Given the description of an element on the screen output the (x, y) to click on. 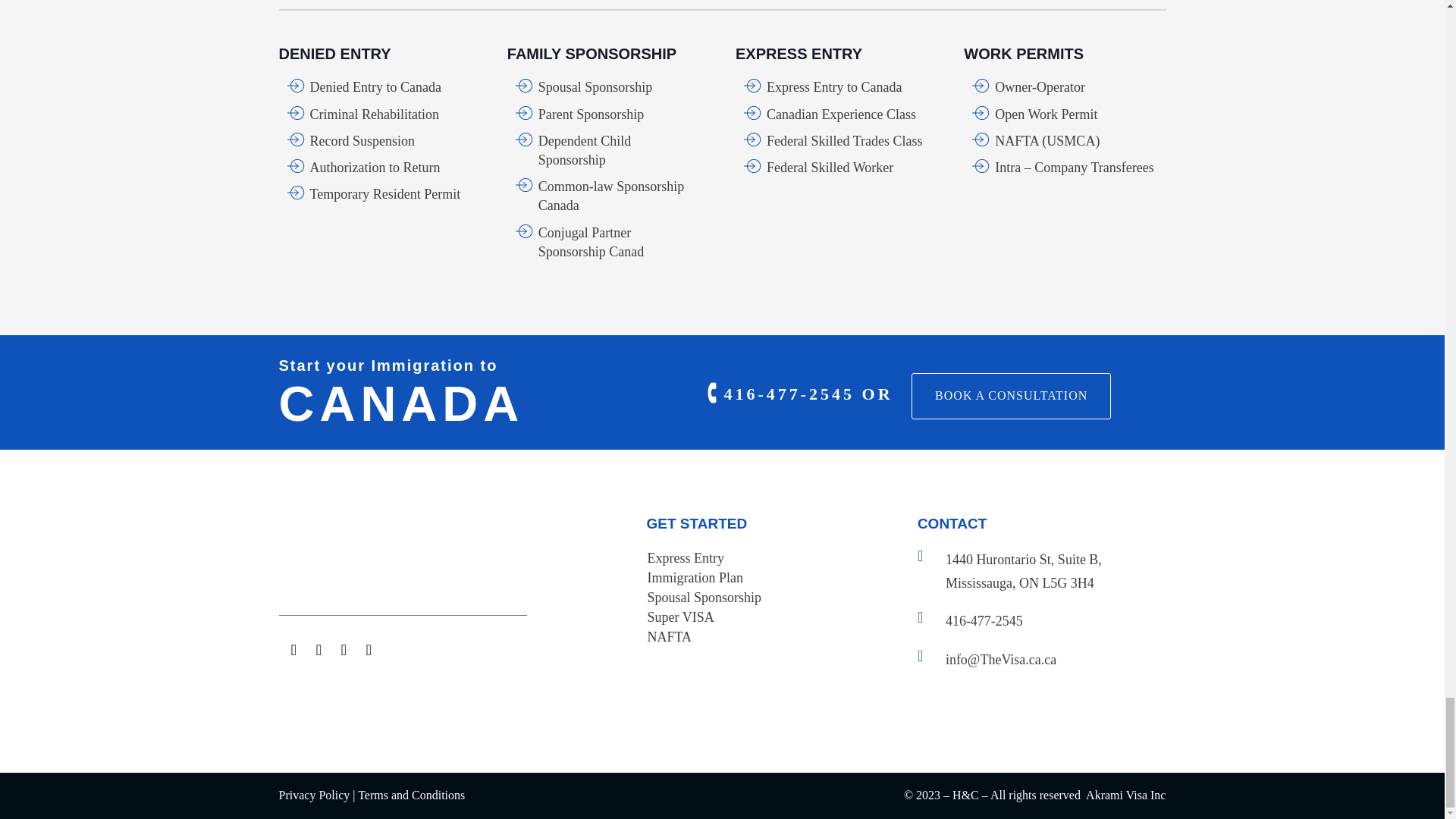
Parent Sponsorshipa (591, 114)
Canadian Experience Class (841, 114)
Dependent Child Sponsorship (584, 150)
Denied Entry to Canada (374, 87)
Record Suspension (361, 140)
Temporary Resident Permit (384, 193)
Criminal Rehabilitation (373, 114)
Denied Entry to Canada (374, 87)
Authorization to Return (373, 167)
Federal Skilled Trades Class (845, 140)
Spousal Sponsorship (595, 87)
Express Entry to Canada (834, 87)
Conjugal Partner Sponsorship Canad (591, 242)
Common-law Sponsorship Canada (611, 195)
